Given the description of an element on the screen output the (x, y) to click on. 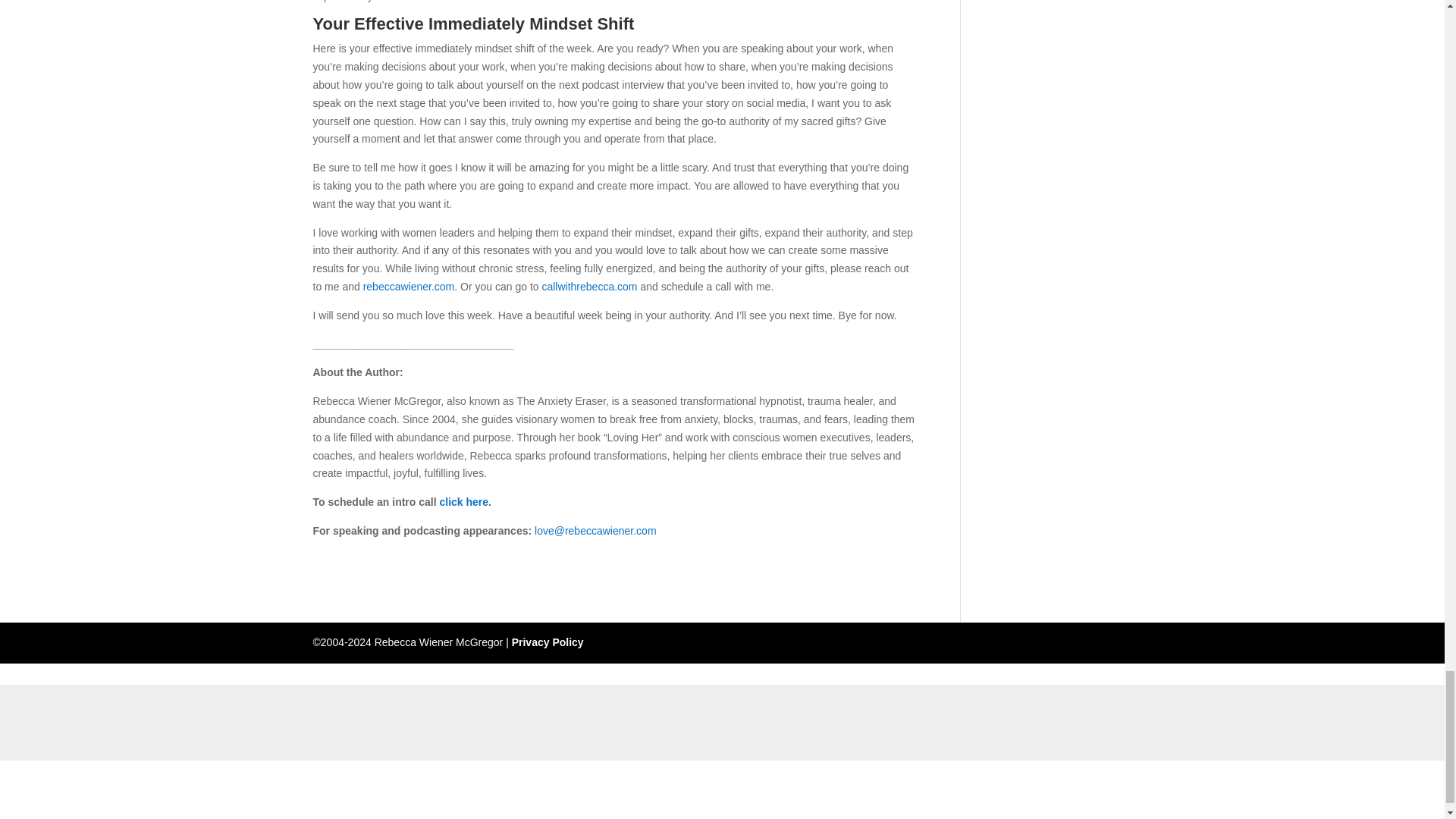
click here (464, 501)
rebeccawiener.com (408, 286)
callwithrebecca.com (589, 286)
